Given the description of an element on the screen output the (x, y) to click on. 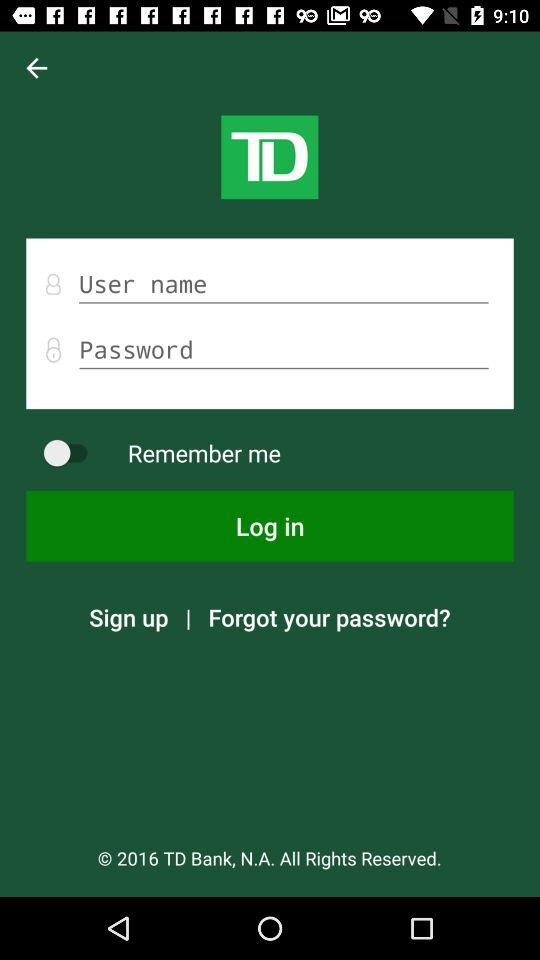
click item above sign up icon (269, 525)
